Given the description of an element on the screen output the (x, y) to click on. 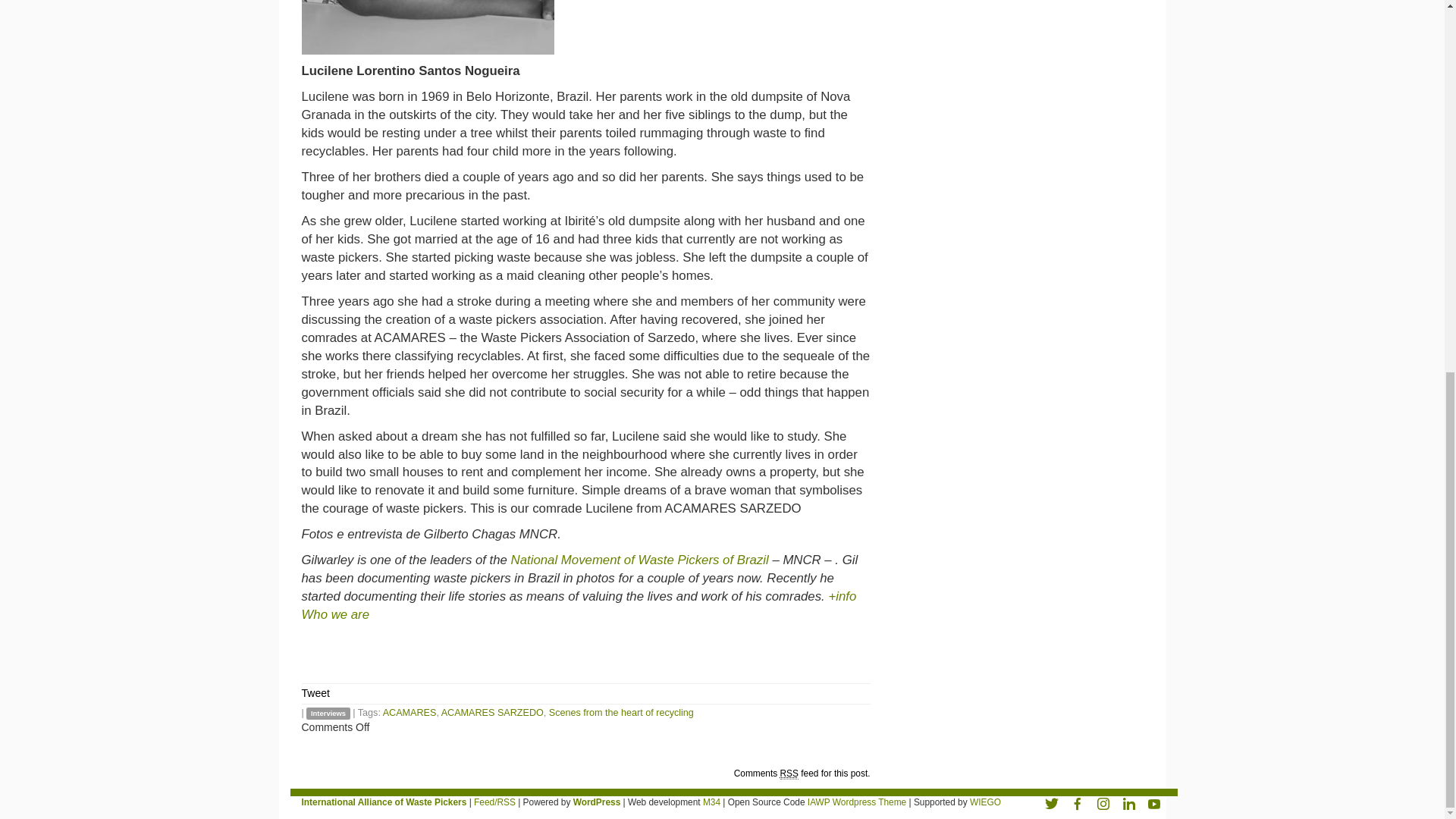
Really Simple Syndication (788, 773)
montera34 (711, 801)
Twitter International Alliance of Waste Pickers (1051, 802)
View all posts in Interviews (327, 713)
